Given the description of an element on the screen output the (x, y) to click on. 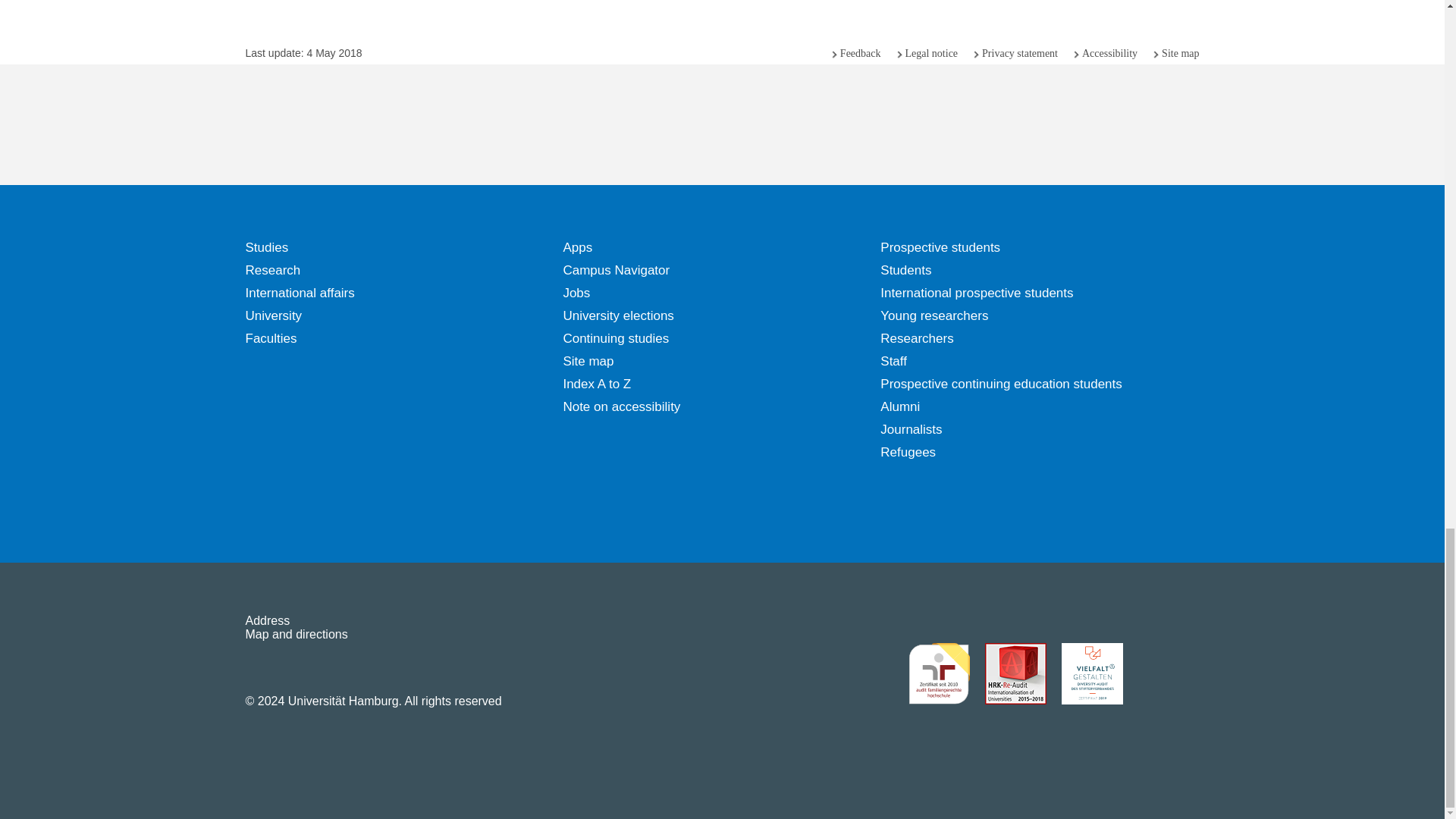
Go to internationalisation re-audit (1014, 673)
Go to Diversity Audit (1091, 673)
Go to family-friendly higher education institution audit (938, 673)
Go to System accreditation (1167, 673)
